Given the description of an element on the screen output the (x, y) to click on. 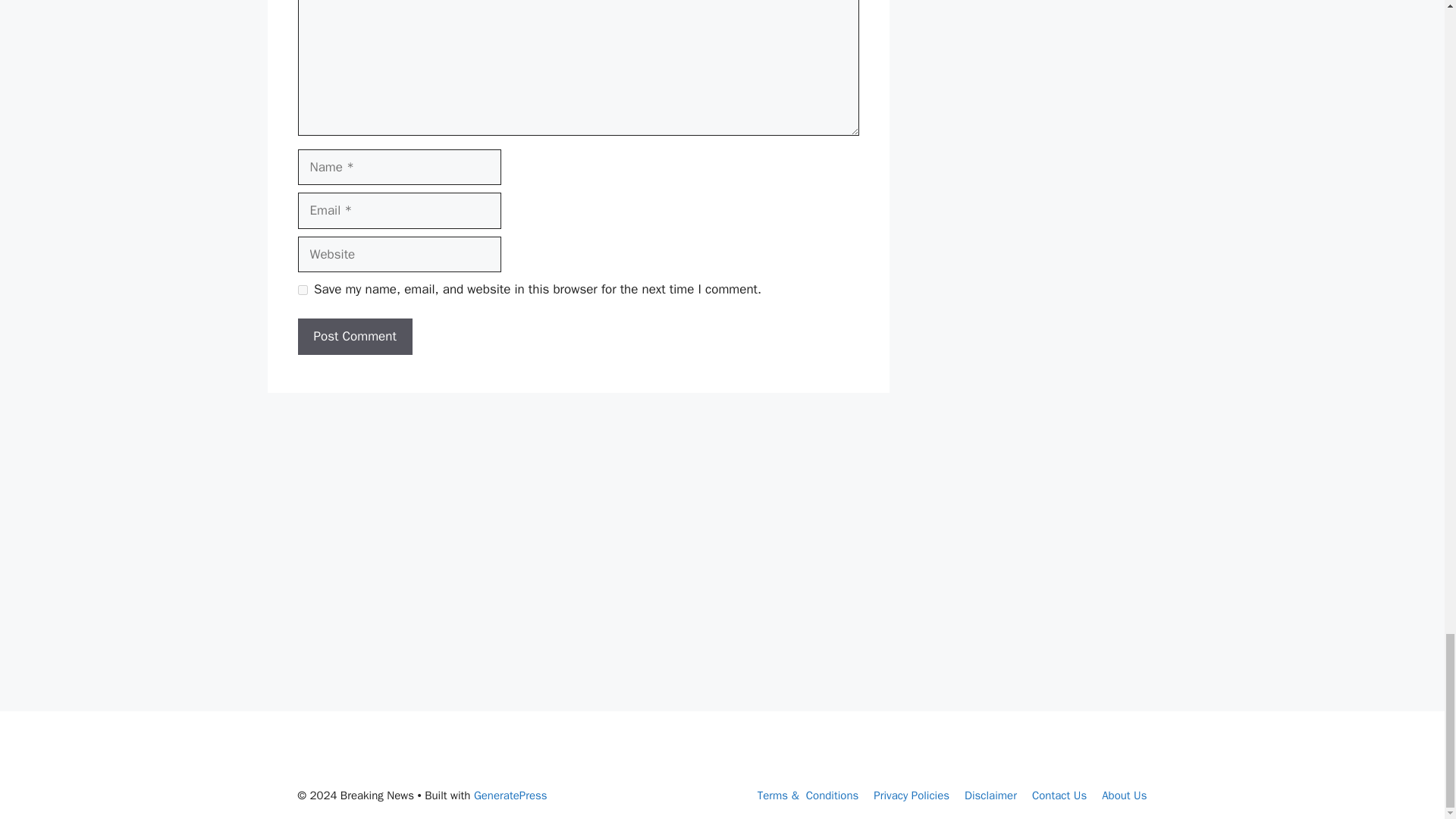
Privacy Policies (911, 795)
Post Comment (354, 336)
yes (302, 289)
GeneratePress (510, 795)
Contact Us (1059, 795)
Disclaimer (989, 795)
Post Comment (354, 336)
About Us (1124, 795)
